Given the description of an element on the screen output the (x, y) to click on. 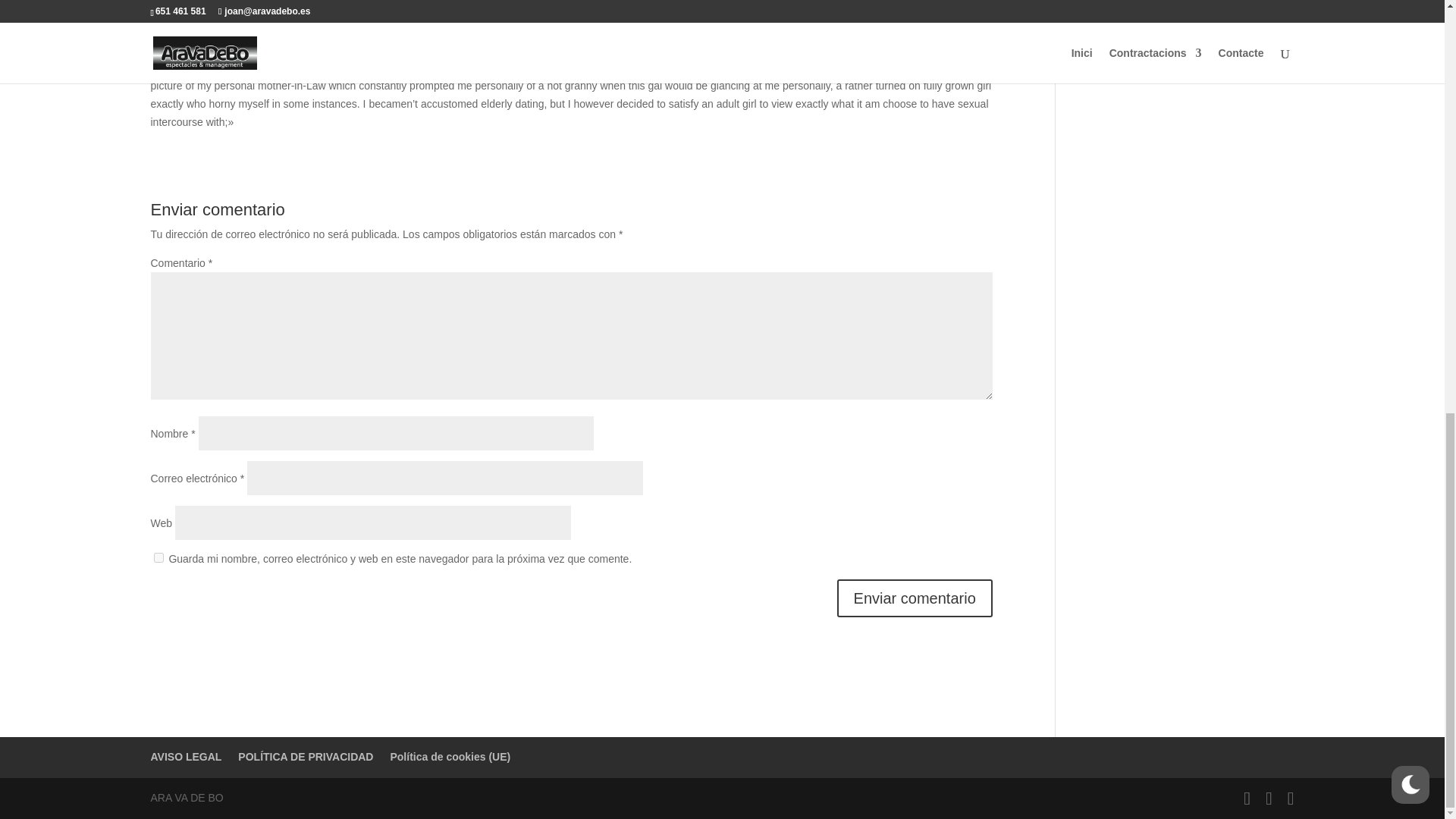
Enviar comentario (914, 598)
yes (157, 557)
Enviar comentario (914, 598)
AVISO LEGAL (185, 756)
